Given the description of an element on the screen output the (x, y) to click on. 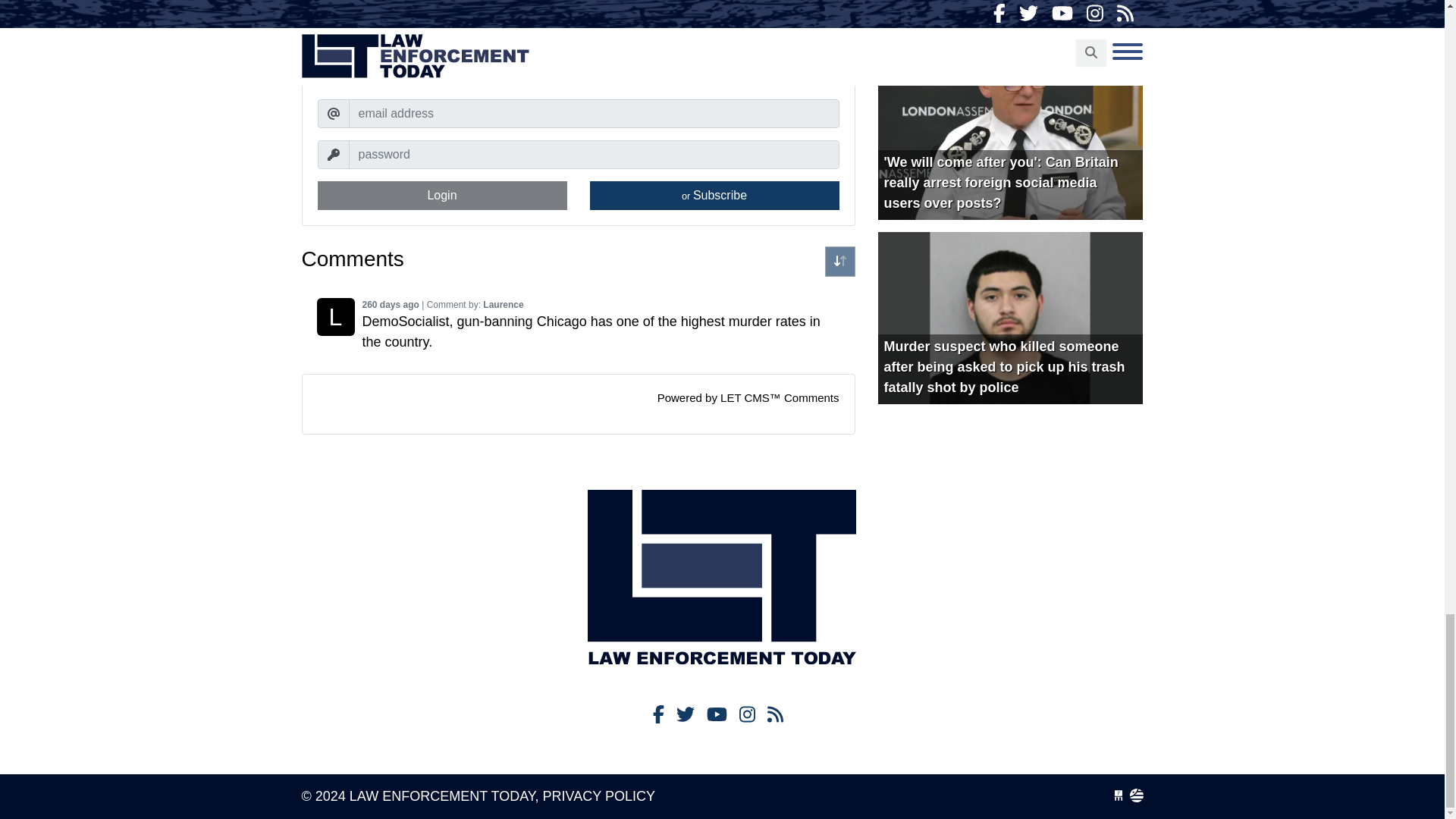
Toggle Order (840, 261)
Twitter (685, 714)
YouTube (716, 714)
